Given the description of an element on the screen output the (x, y) to click on. 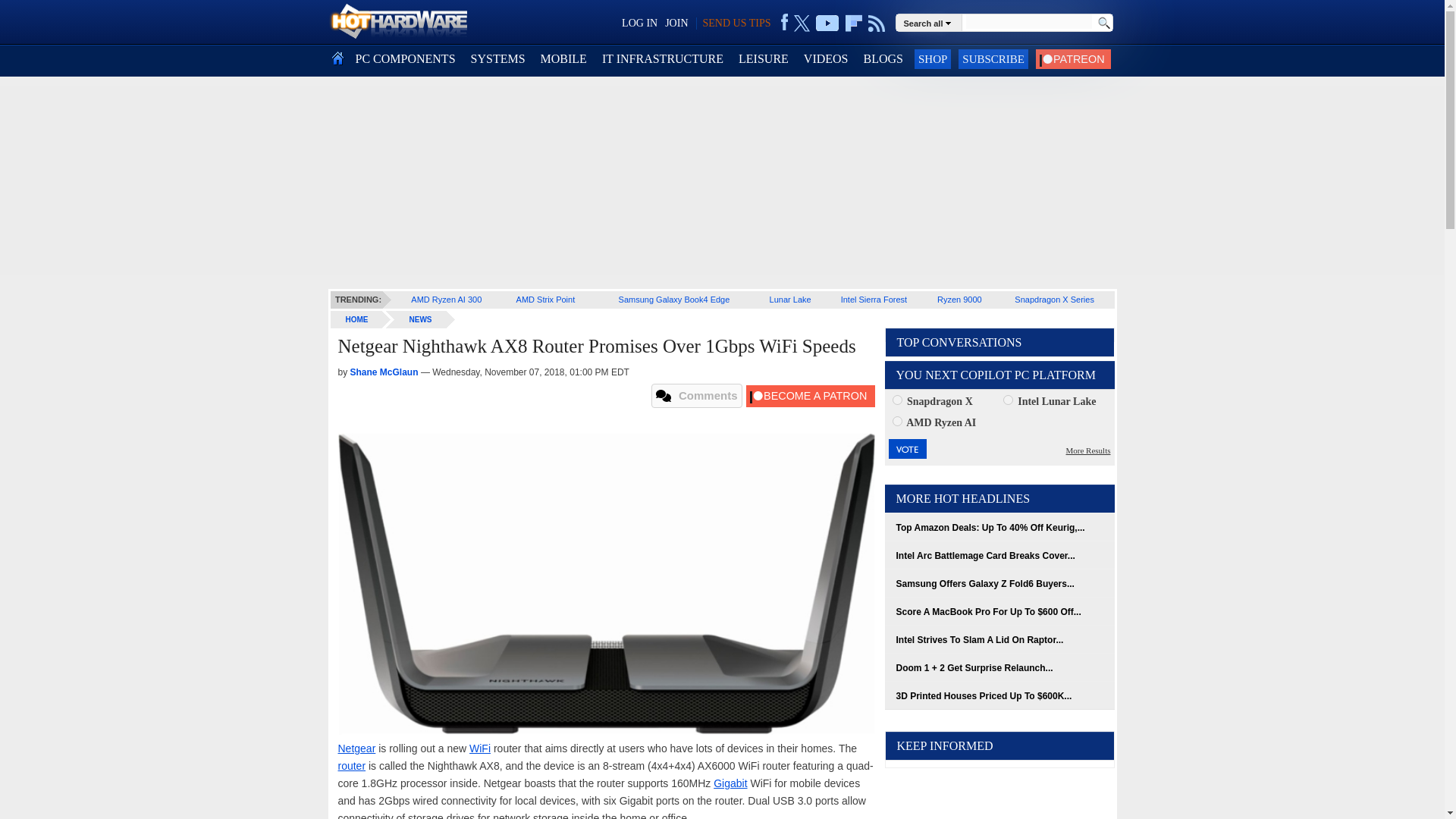
PC COMPONENTS (405, 58)
JOIN (676, 22)
Go (1103, 22)
SEND US TIPS (735, 22)
Go (1103, 22)
758 (1008, 399)
Comments (696, 395)
759 (896, 420)
LOG IN (639, 22)
757 (896, 399)
